Given the description of an element on the screen output the (x, y) to click on. 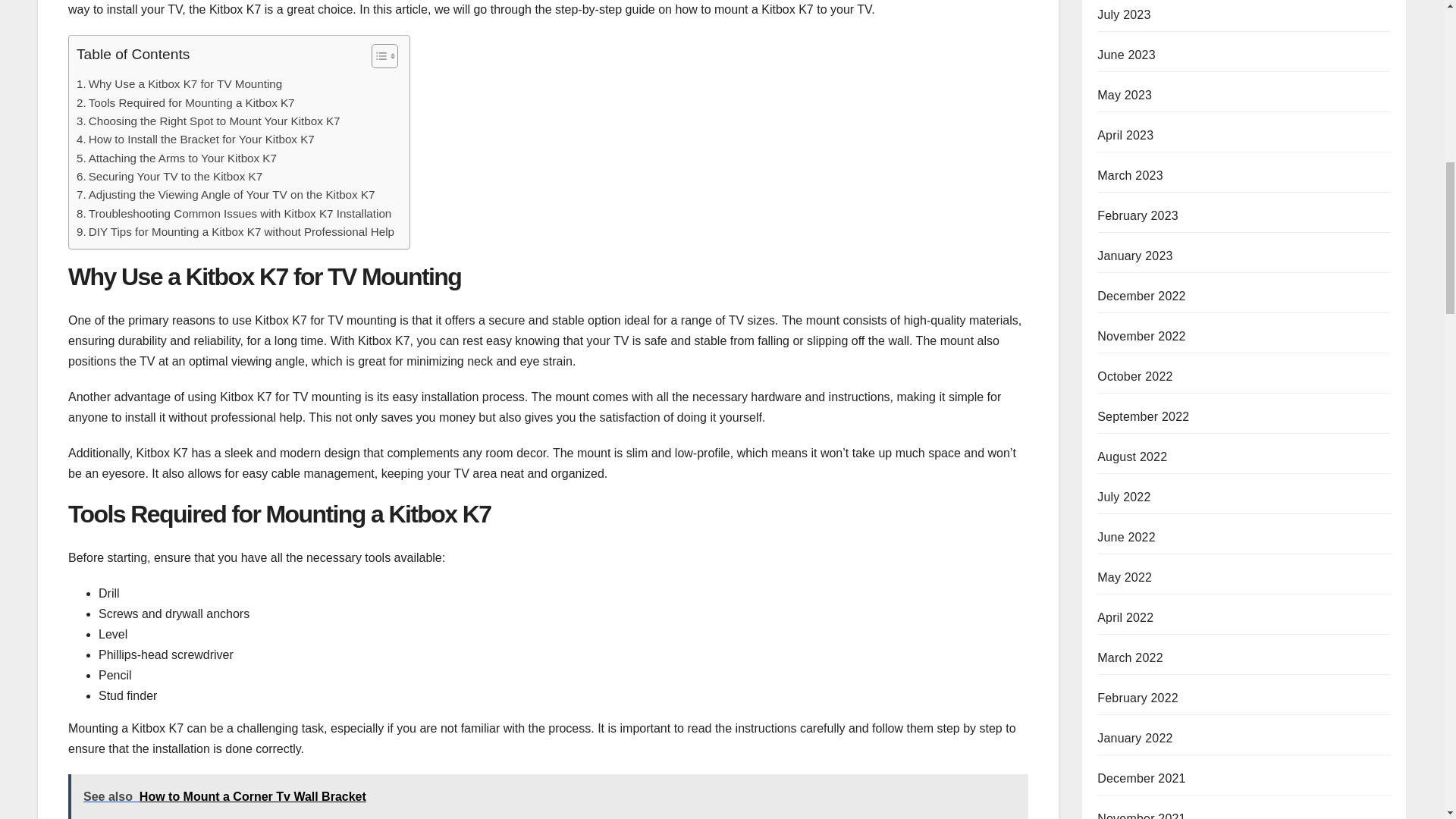
Why Use a Kitbox K7 for TV Mounting (179, 84)
Adjusting the Viewing Angle of Your TV on the Kitbox K7 (225, 194)
How to Install the Bracket for Your Kitbox K7 (195, 139)
Adjusting the Viewing Angle of Your TV on the Kitbox K7 (225, 194)
See also  How to Mount a Corner Tv Wall Bracket (547, 796)
Tools Required for Mounting a Kitbox K7 (186, 103)
DIY Tips for Mounting a Kitbox K7 without Professional Help (235, 231)
Why Use a Kitbox K7 for TV Mounting (179, 84)
How to Install the Bracket for Your Kitbox K7 (195, 139)
Choosing the Right Spot to Mount Your Kitbox K7 (208, 121)
Tools Required for Mounting a Kitbox K7 (186, 103)
Troubleshooting Common Issues with Kitbox K7 Installation (234, 213)
Securing Your TV to the Kitbox K7 (169, 176)
Troubleshooting Common Issues with Kitbox K7 Installation (234, 213)
Attaching the Arms to Your Kitbox K7 (176, 158)
